Given the description of an element on the screen output the (x, y) to click on. 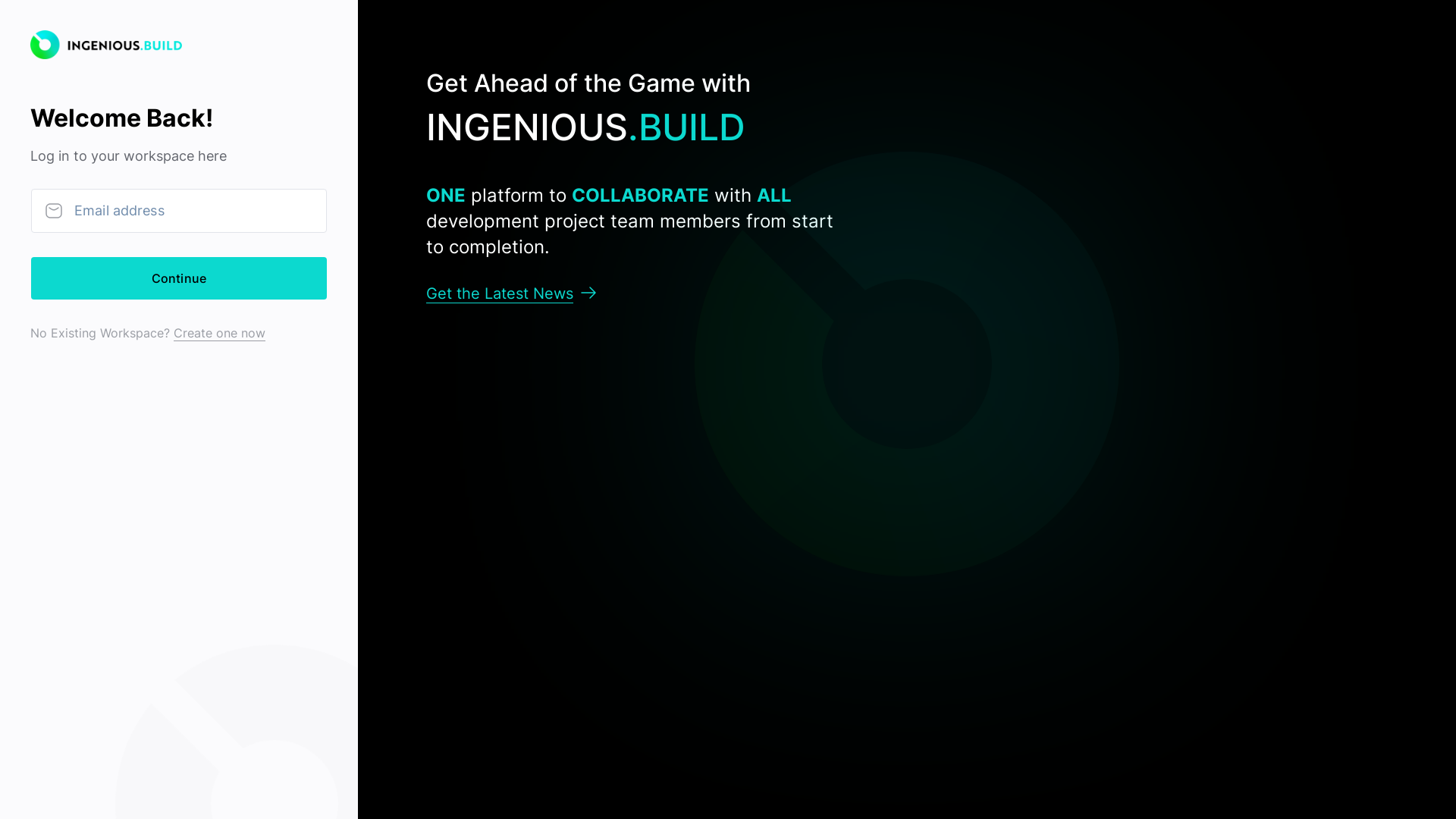
Create one now Element type: text (219, 332)
Get the Latest News Element type: text (511, 293)
Continue Element type: text (178, 277)
